Given the description of an element on the screen output the (x, y) to click on. 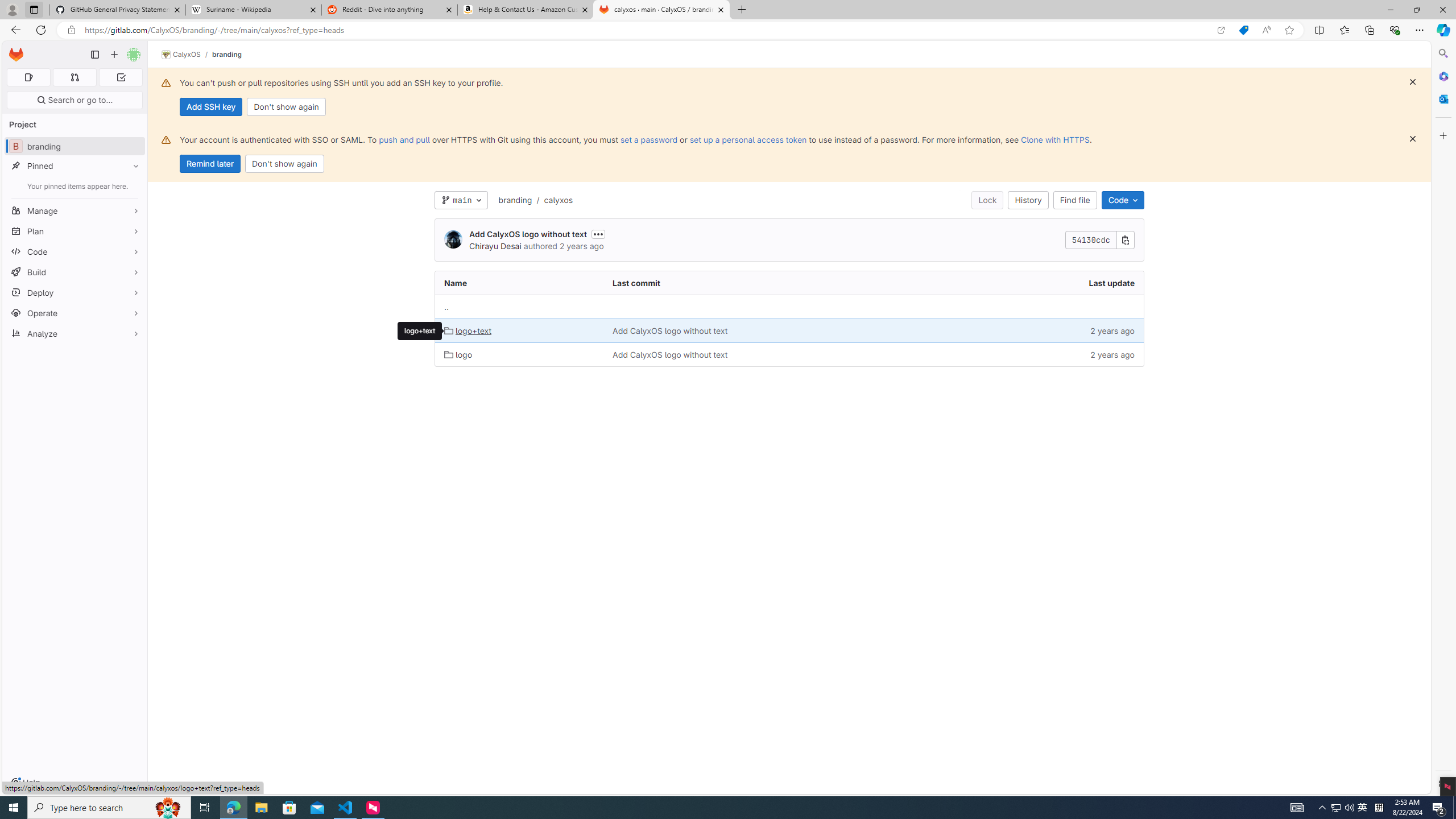
Class: s16 gl-icon gl-button-icon  (1411, 138)
Analyze (74, 333)
Homepage (16, 54)
To-Do list 0 (120, 76)
Lock (987, 199)
Merge requests 0 (74, 76)
Add SSH key (211, 106)
Code (1122, 199)
Side bar (1443, 418)
Analyze (74, 333)
Find file (1074, 199)
Operate (74, 312)
Toggle commit description (598, 234)
Deploy (74, 292)
